Given the description of an element on the screen output the (x, y) to click on. 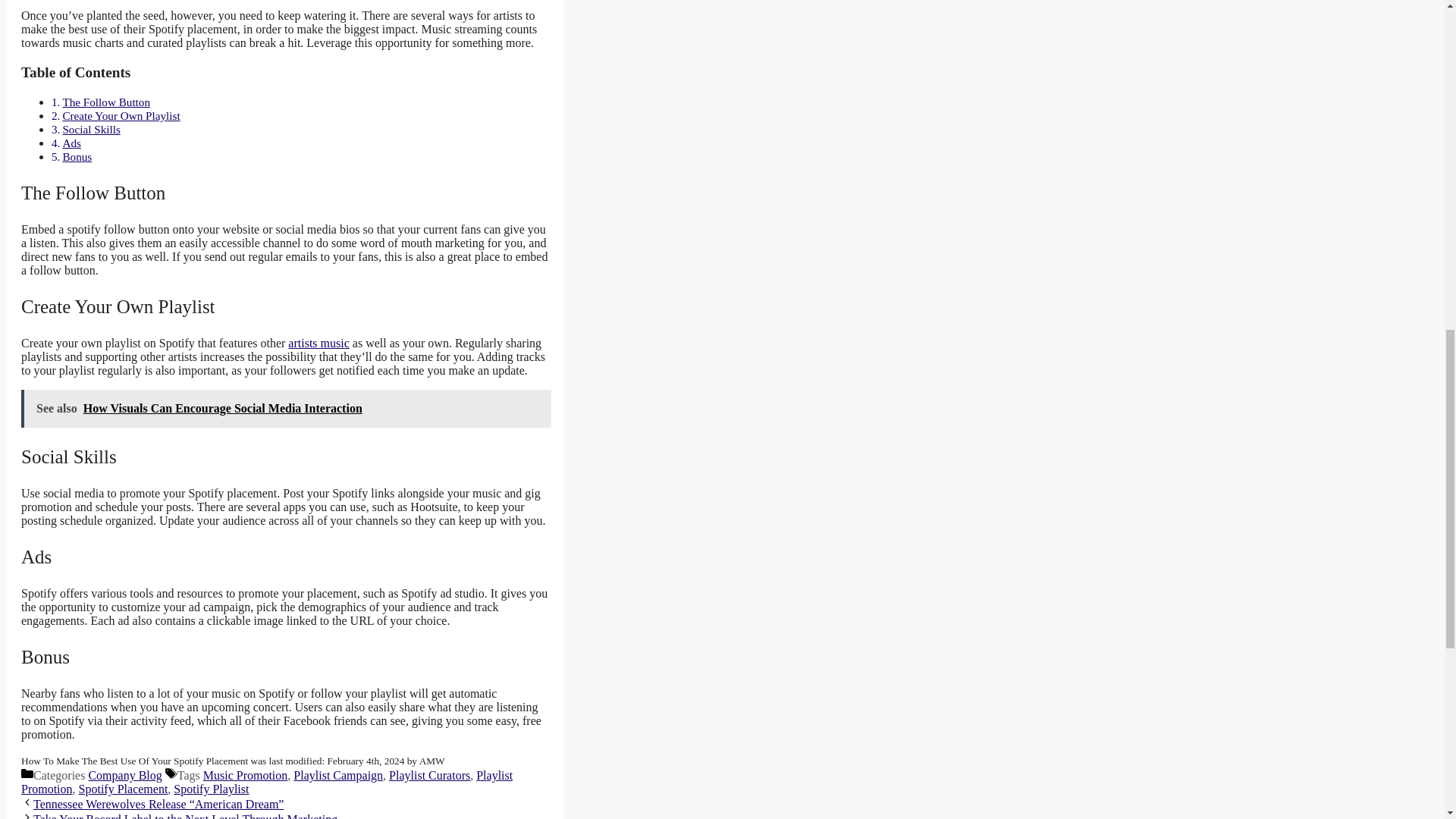
artists music (318, 342)
Ads (71, 142)
Social Skills (90, 128)
Ads (71, 142)
Take Your Record Label to the Next Level Through Marketing (185, 816)
See also  How Visuals Can Encourage Social Media Interaction (286, 408)
Playlist Campaign (338, 775)
Create Your Own Playlist (120, 115)
Playlist Promotion (266, 782)
Spotify Playlist (210, 788)
